Given the description of an element on the screen output the (x, y) to click on. 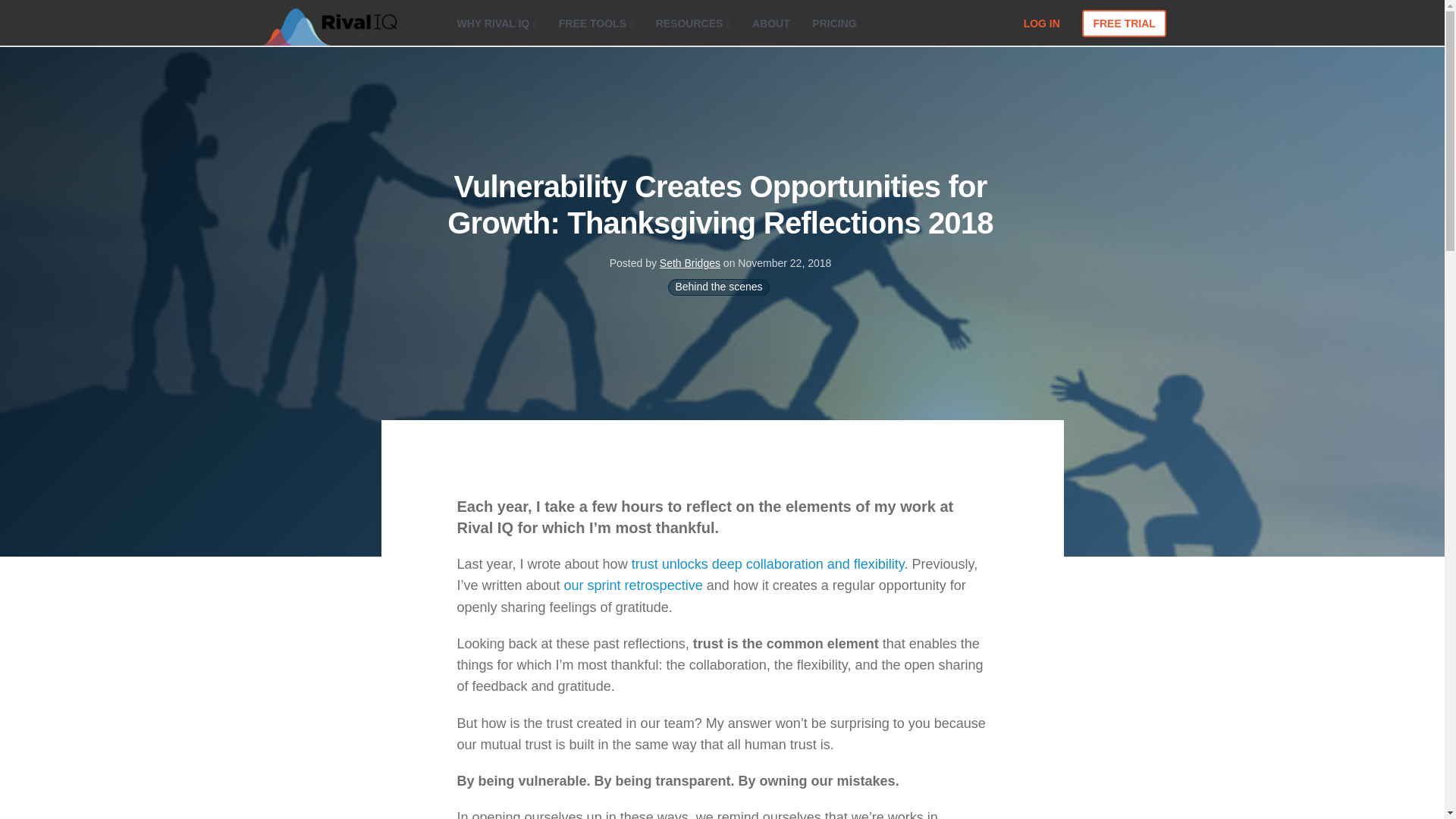
Social Media Analytics (328, 23)
WHY RIVAL IQ (496, 17)
FREE TOOLS (596, 17)
RESOURCES (693, 17)
